Given the description of an element on the screen output the (x, y) to click on. 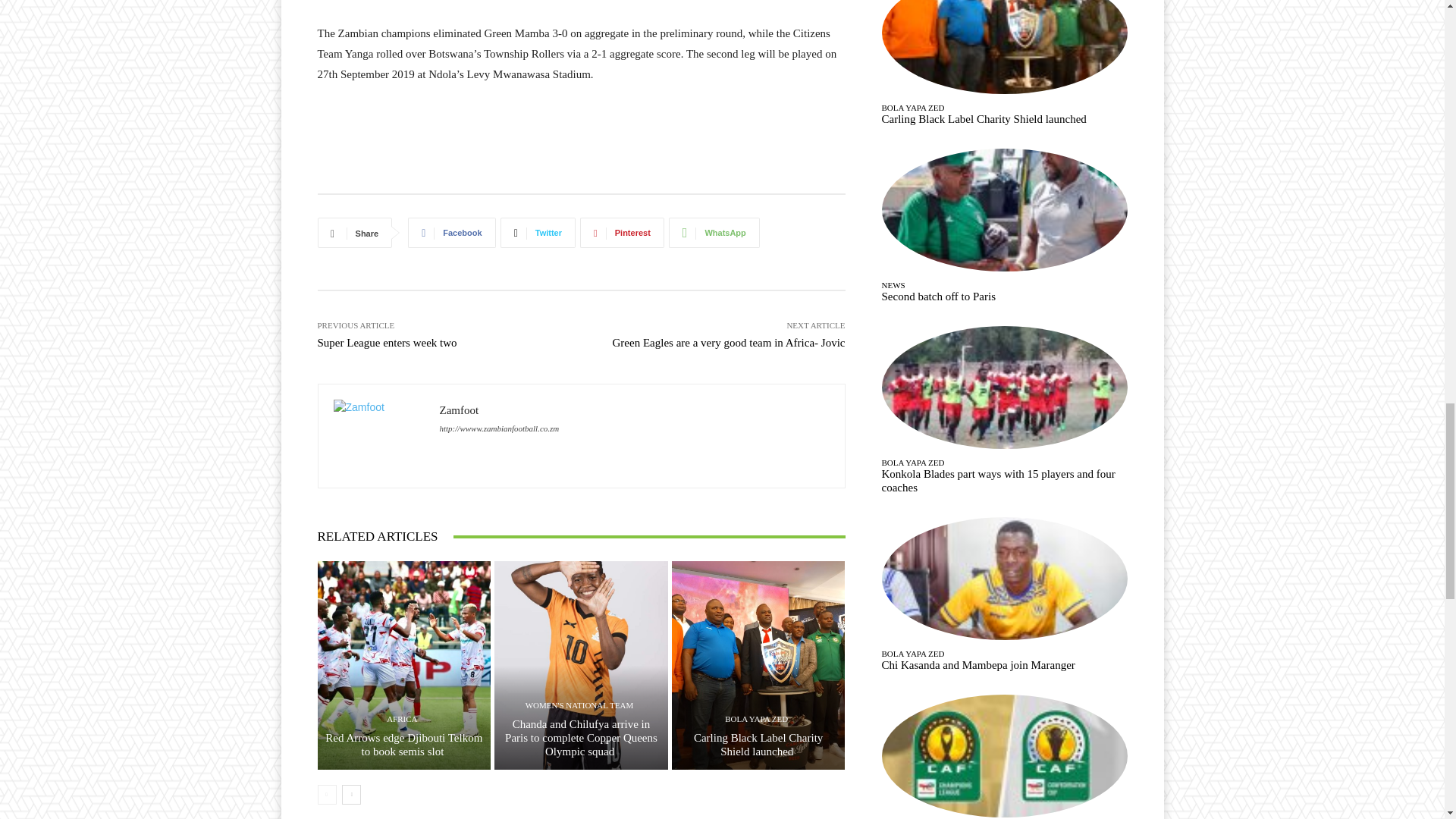
Twitter (537, 232)
Facebook (451, 232)
